Given the description of an element on the screen output the (x, y) to click on. 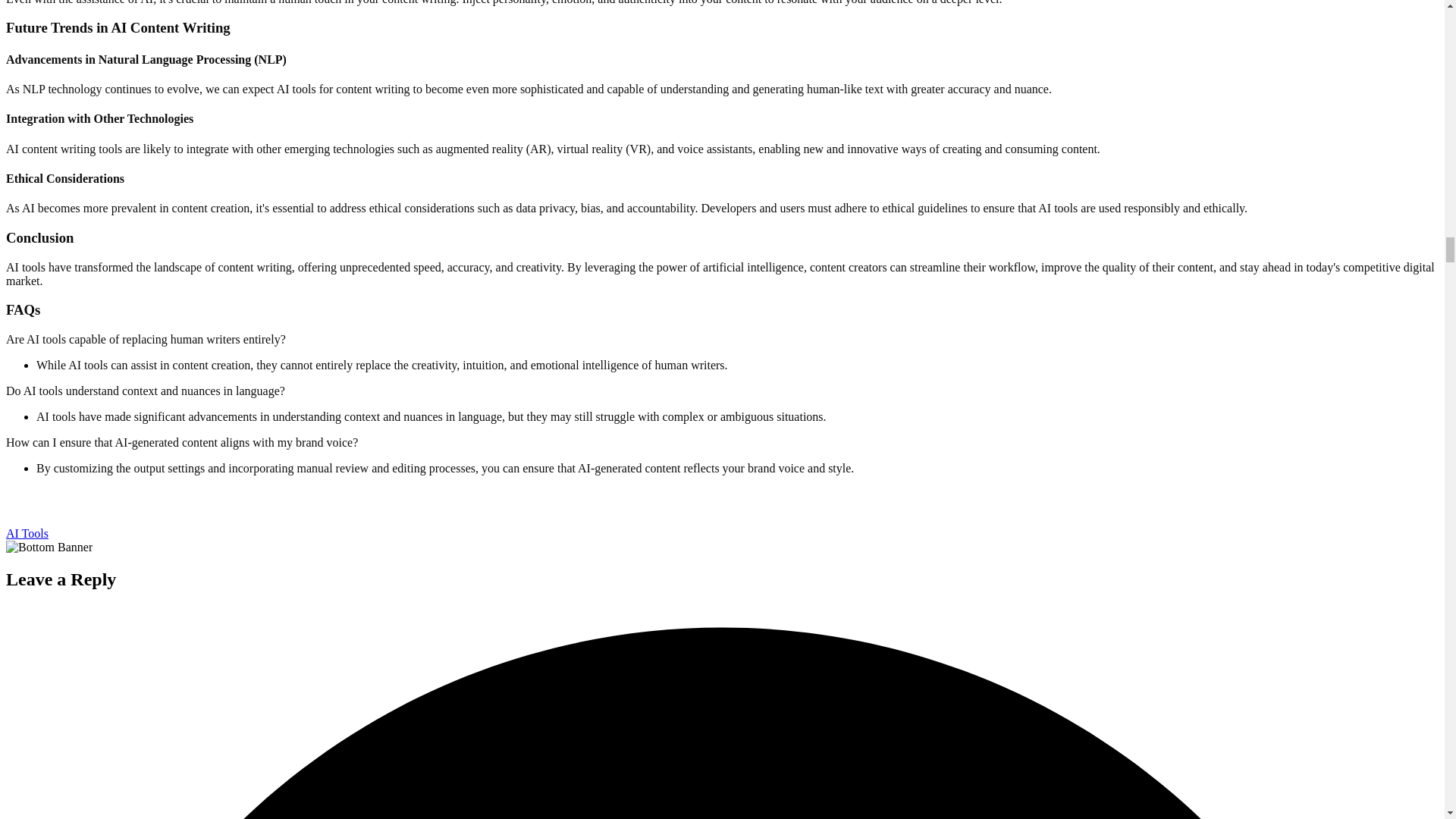
AI Tools (26, 533)
Bottom Banner (49, 547)
